Given the description of an element on the screen output the (x, y) to click on. 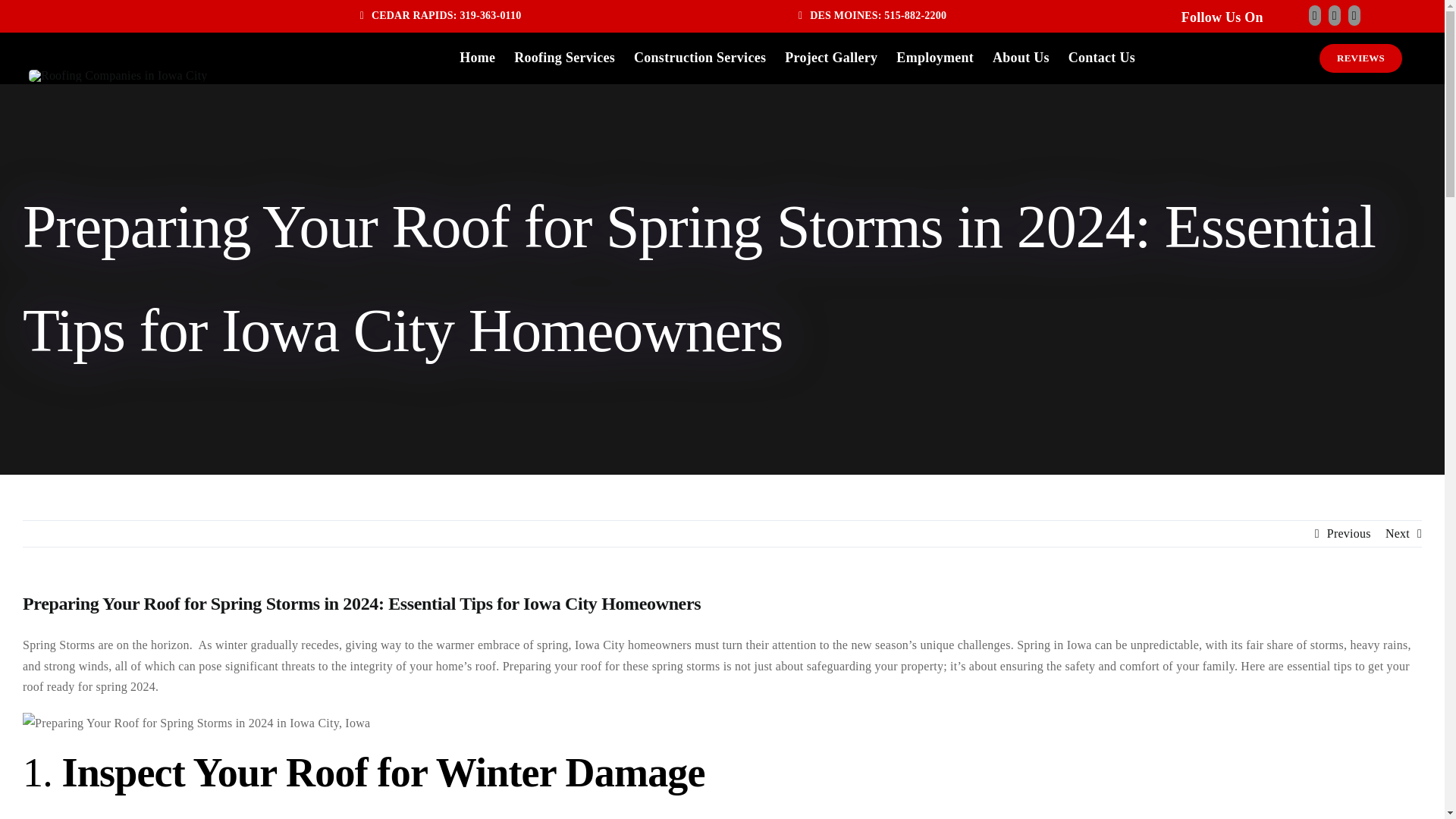
LinkedIn (1353, 15)
Next (1397, 533)
About Us (1020, 57)
Home (477, 57)
REVIEWS (1360, 58)
Roofing Services (563, 57)
CEDAR RAPIDS: 319-363-0110 (440, 16)
Construction Services (699, 57)
Facebook (1314, 15)
Employment (935, 57)
